Given the description of an element on the screen output the (x, y) to click on. 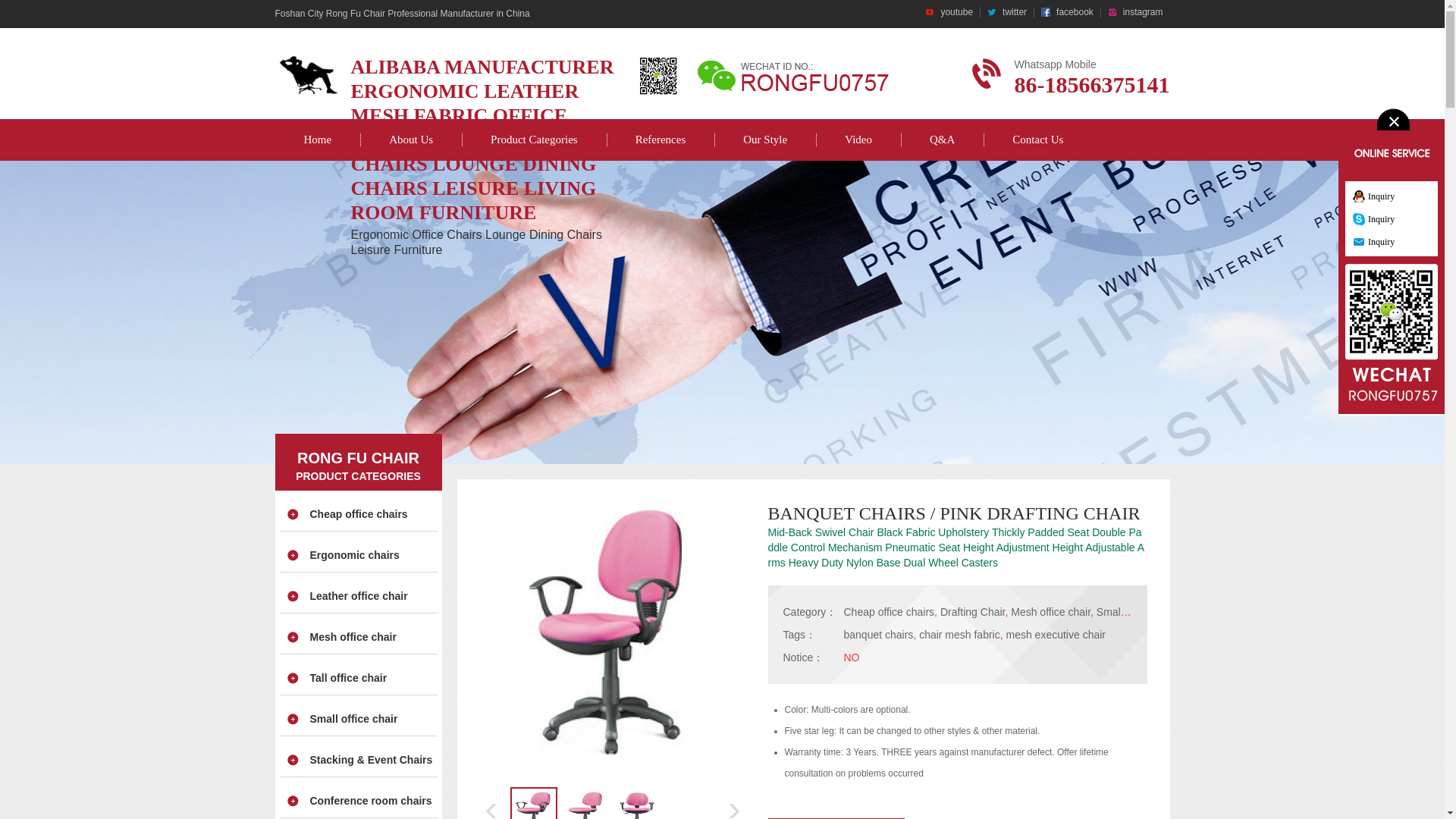
Product Categories (534, 139)
About Us (410, 139)
instagram (1135, 12)
Images (611, 634)
Small office chair (352, 718)
chair mesh fabric (959, 634)
youtube (948, 12)
Drafting Chair (973, 612)
Ergonomic chairs (353, 554)
Conference room chairs (369, 800)
Cheap office chairs (888, 612)
facebook (1066, 12)
banquet chairs (877, 634)
twitter (1006, 12)
